Given the description of an element on the screen output the (x, y) to click on. 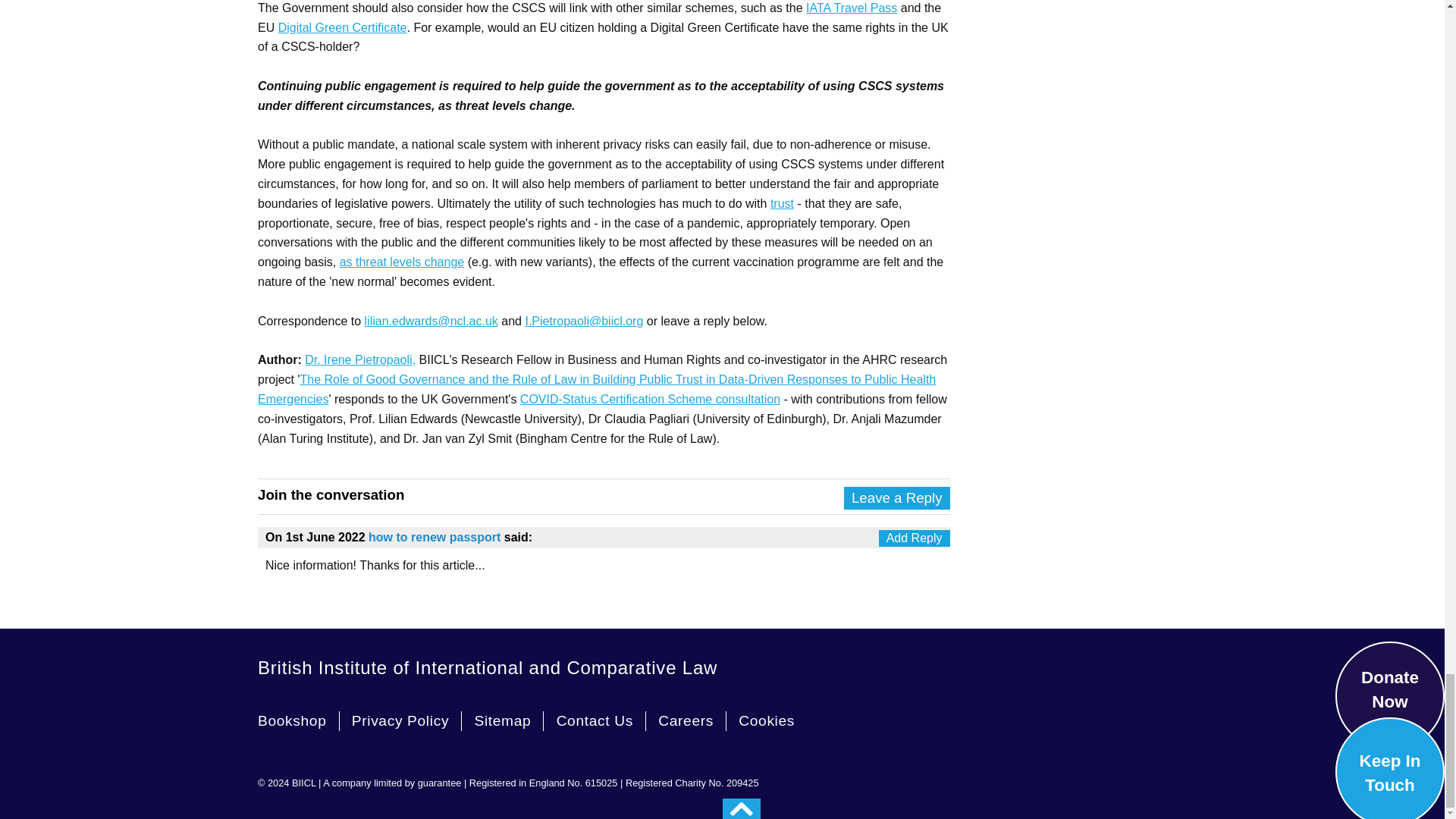
Leave a Reply (897, 497)
Add Reply (914, 538)
